Given the description of an element on the screen output the (x, y) to click on. 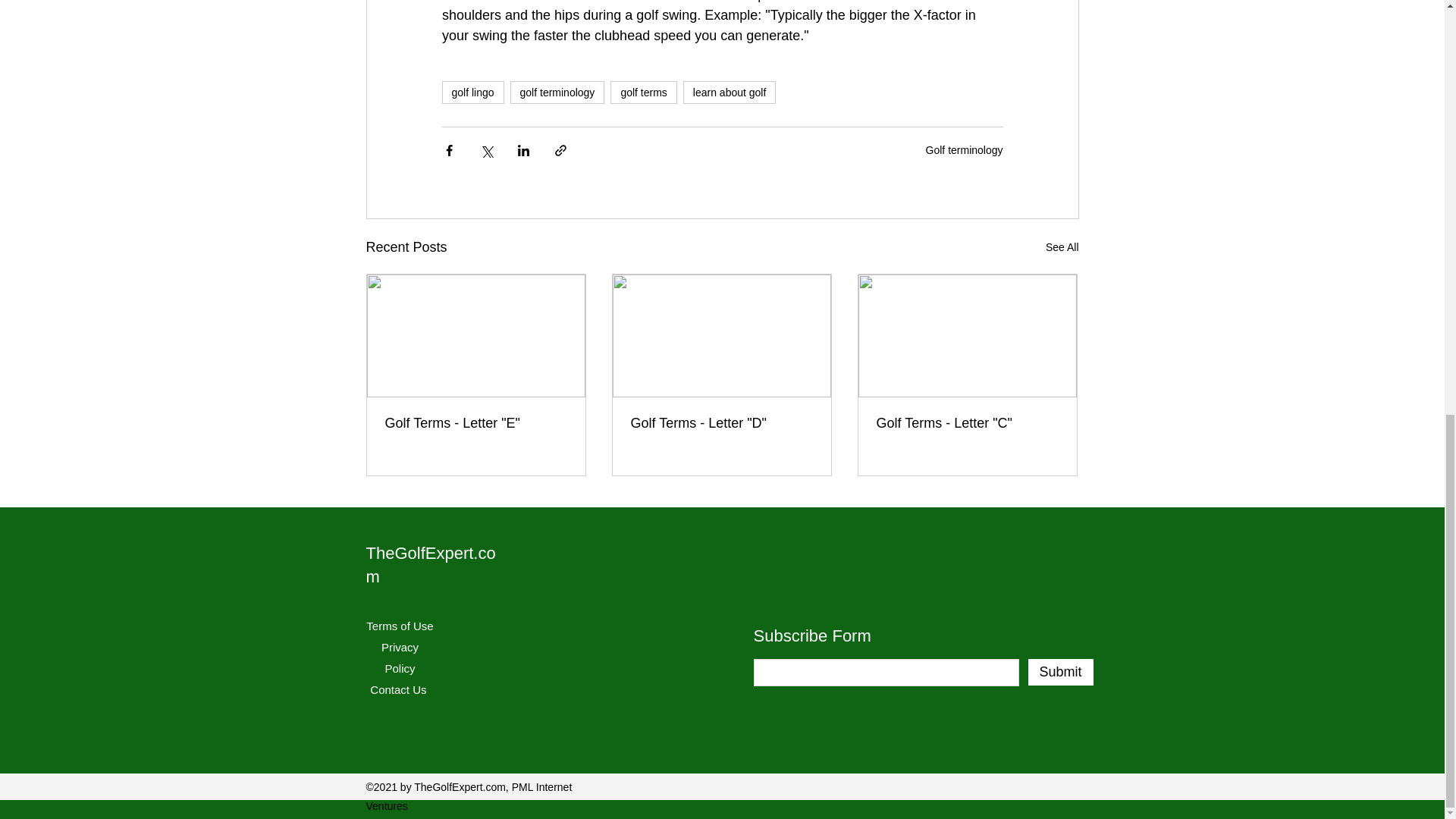
golf terms (643, 92)
learn about golf (729, 92)
golf lingo (472, 92)
golf terminology (558, 92)
